Given the description of an element on the screen output the (x, y) to click on. 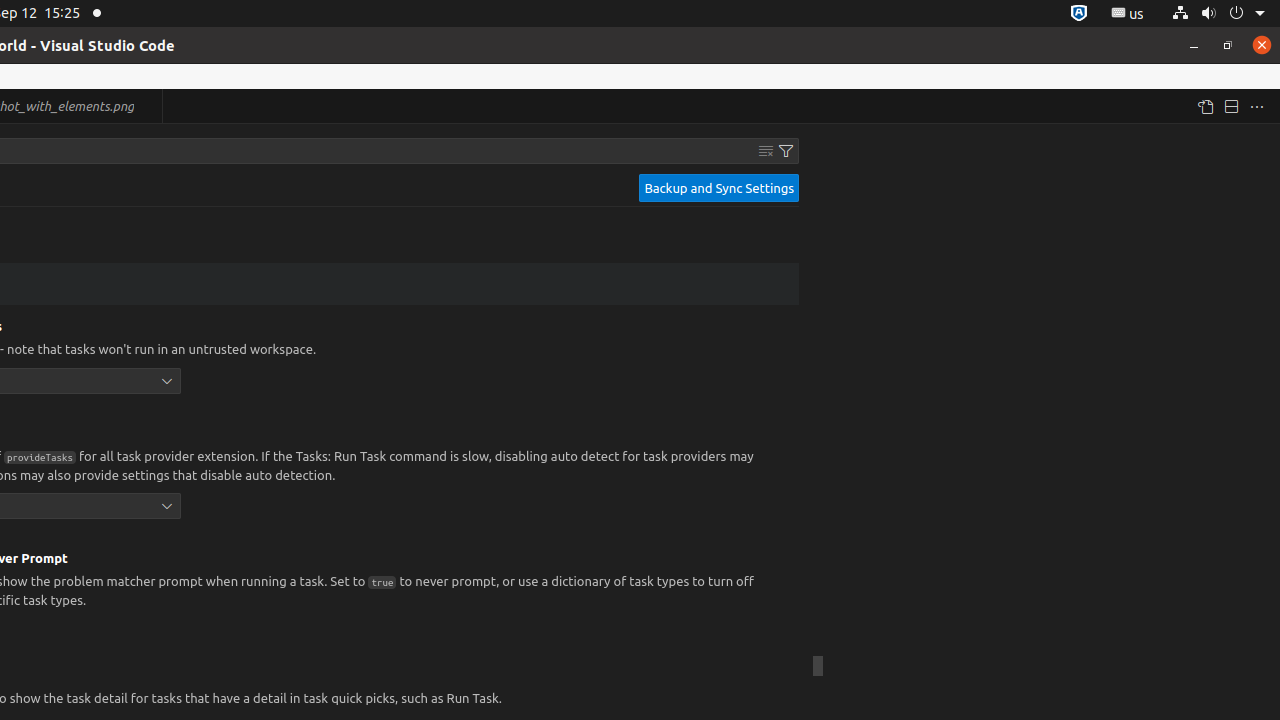
More Actions... Element type: push-button (1257, 106)
Clear Settings Search Input Element type: push-button (766, 151)
Backup and Sync Settings Element type: push-button (719, 188)
Open Settings (JSON) Element type: push-button (1205, 106)
